Given the description of an element on the screen output the (x, y) to click on. 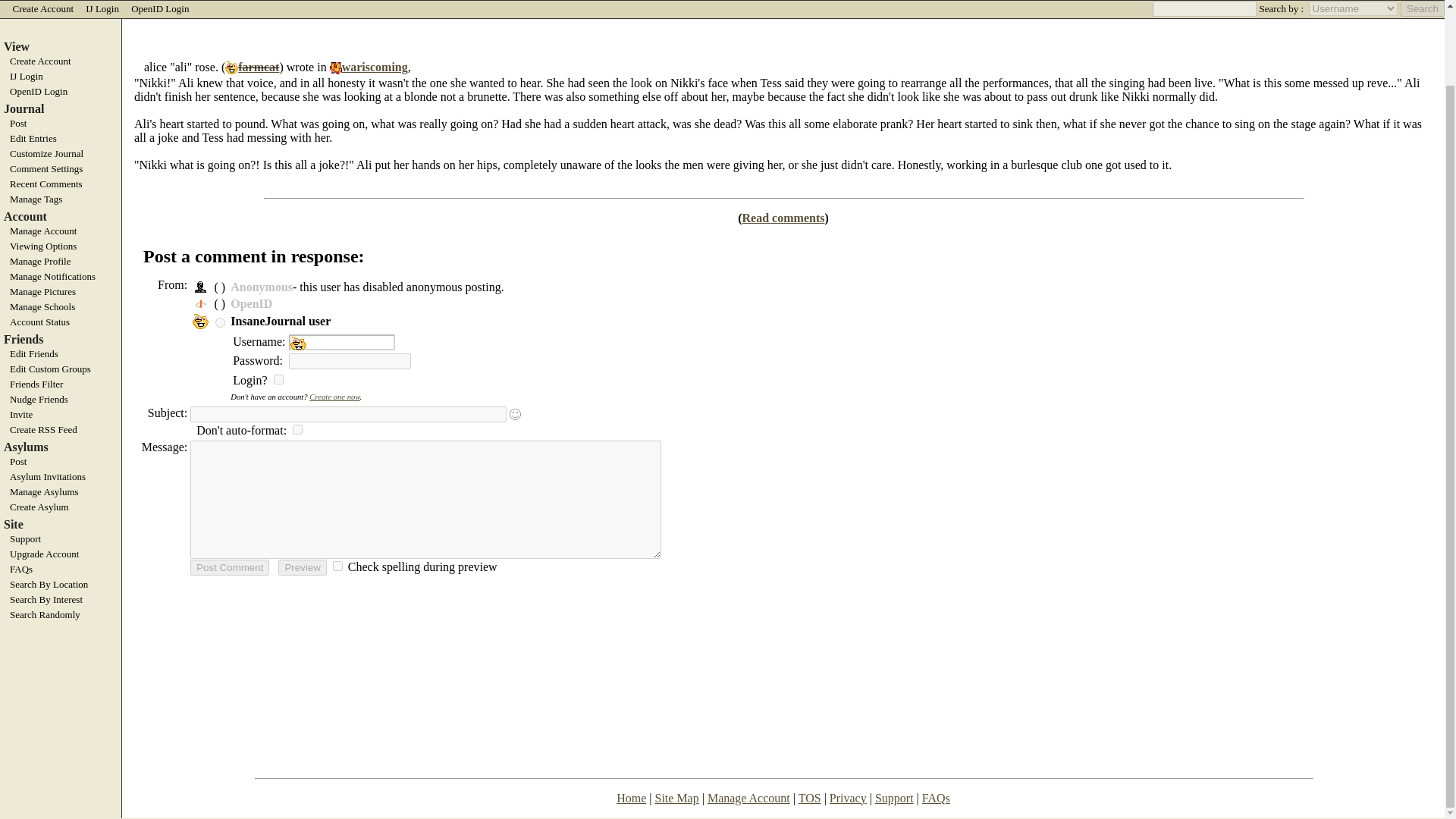
Manage Schools (60, 306)
user (220, 322)
Customize Journal (60, 153)
Nudge Friends (60, 399)
Create Asylum (60, 507)
Create RSS Feed (60, 429)
Create Account (42, 8)
Click to change the subject icon (515, 414)
on (278, 378)
Edit Entries (60, 138)
Invite (60, 414)
Comment Settings (60, 168)
Post Comment (229, 566)
Preview (302, 566)
Manage Tags (60, 199)
